Given the description of an element on the screen output the (x, y) to click on. 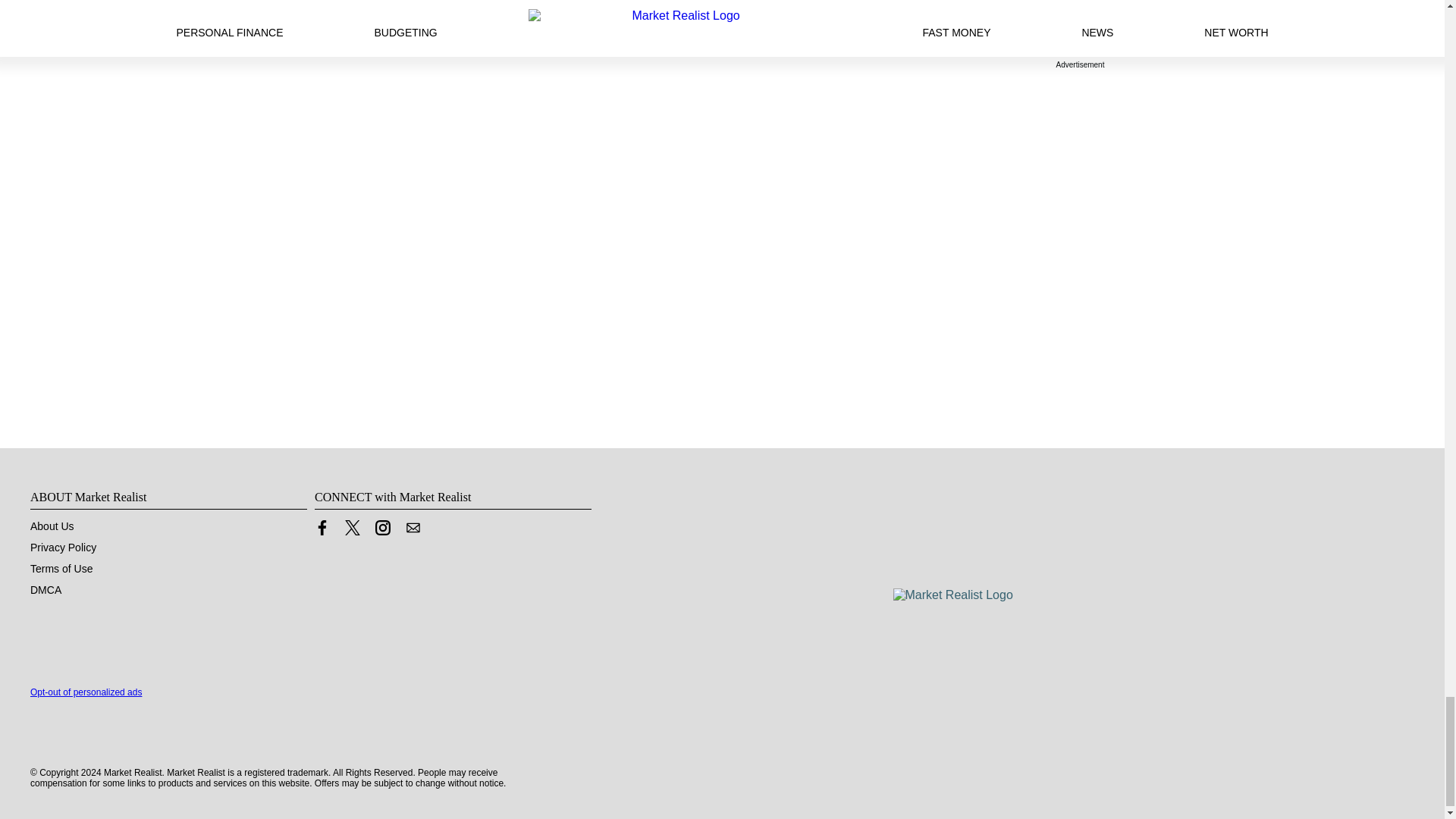
Link to Facebook (322, 531)
Link to X (352, 531)
Link to Instagram (382, 531)
Contact us by Email (413, 531)
DMCA (45, 589)
Opt-out of personalized ads (85, 692)
Terms of Use (61, 568)
About Us (52, 526)
Link to Facebook (322, 527)
About Us (52, 526)
Contact us by Email (413, 527)
DMCA (45, 589)
Terms of Use (61, 568)
Privacy Policy (63, 547)
Privacy Policy (63, 547)
